Given the description of an element on the screen output the (x, y) to click on. 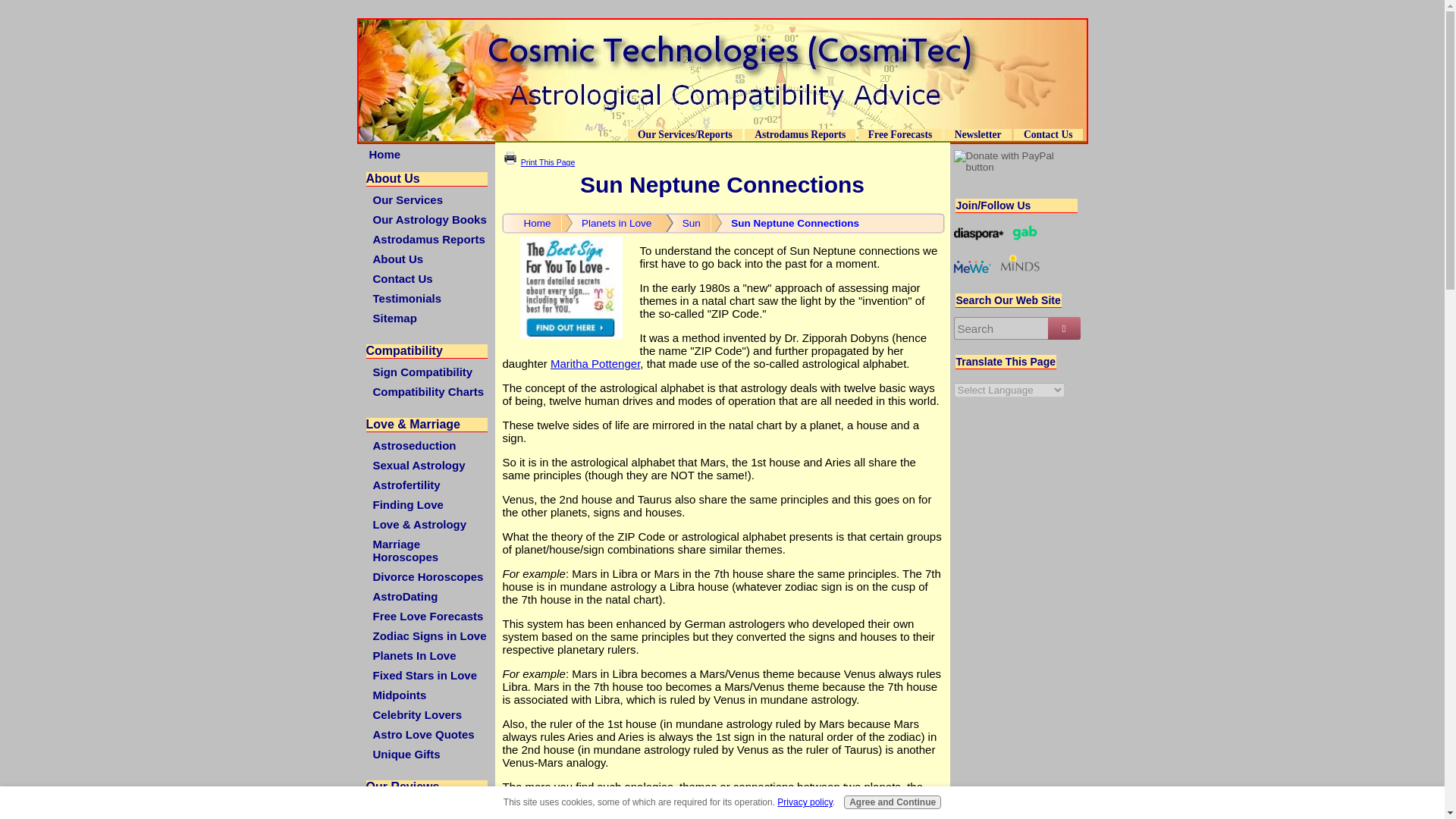
Sitemap (428, 317)
About Us (428, 258)
Fixed Stars in Love (428, 674)
Astrodamus Reports (428, 239)
Compatibility Charts (428, 391)
Contact Us (428, 278)
Print This Page (548, 162)
Divorce Horoscopes (428, 576)
Astrodamus Reports (799, 134)
Planets In Love (428, 655)
